Given the description of an element on the screen output the (x, y) to click on. 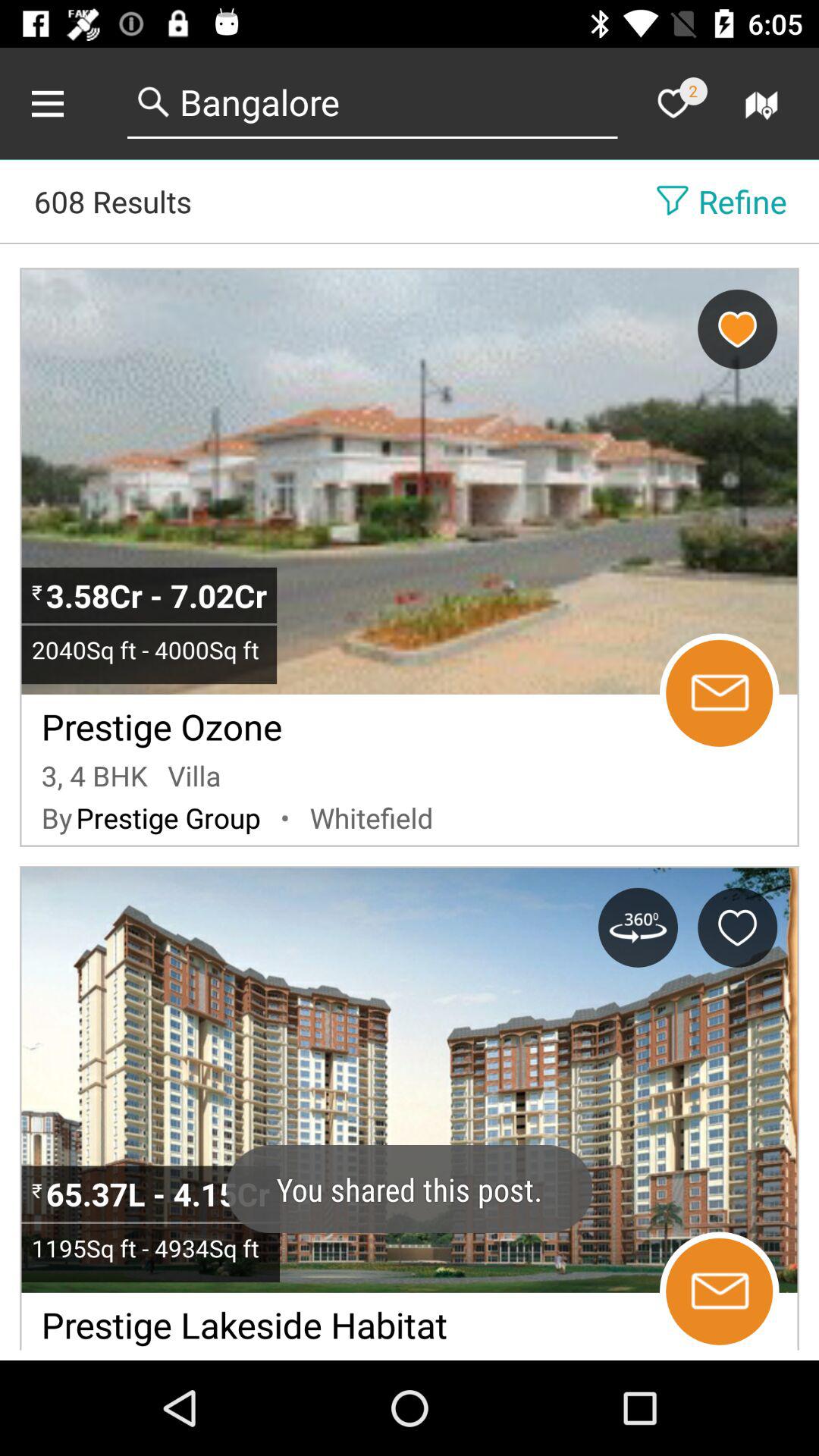
mark as favorite (673, 103)
